Given the description of an element on the screen output the (x, y) to click on. 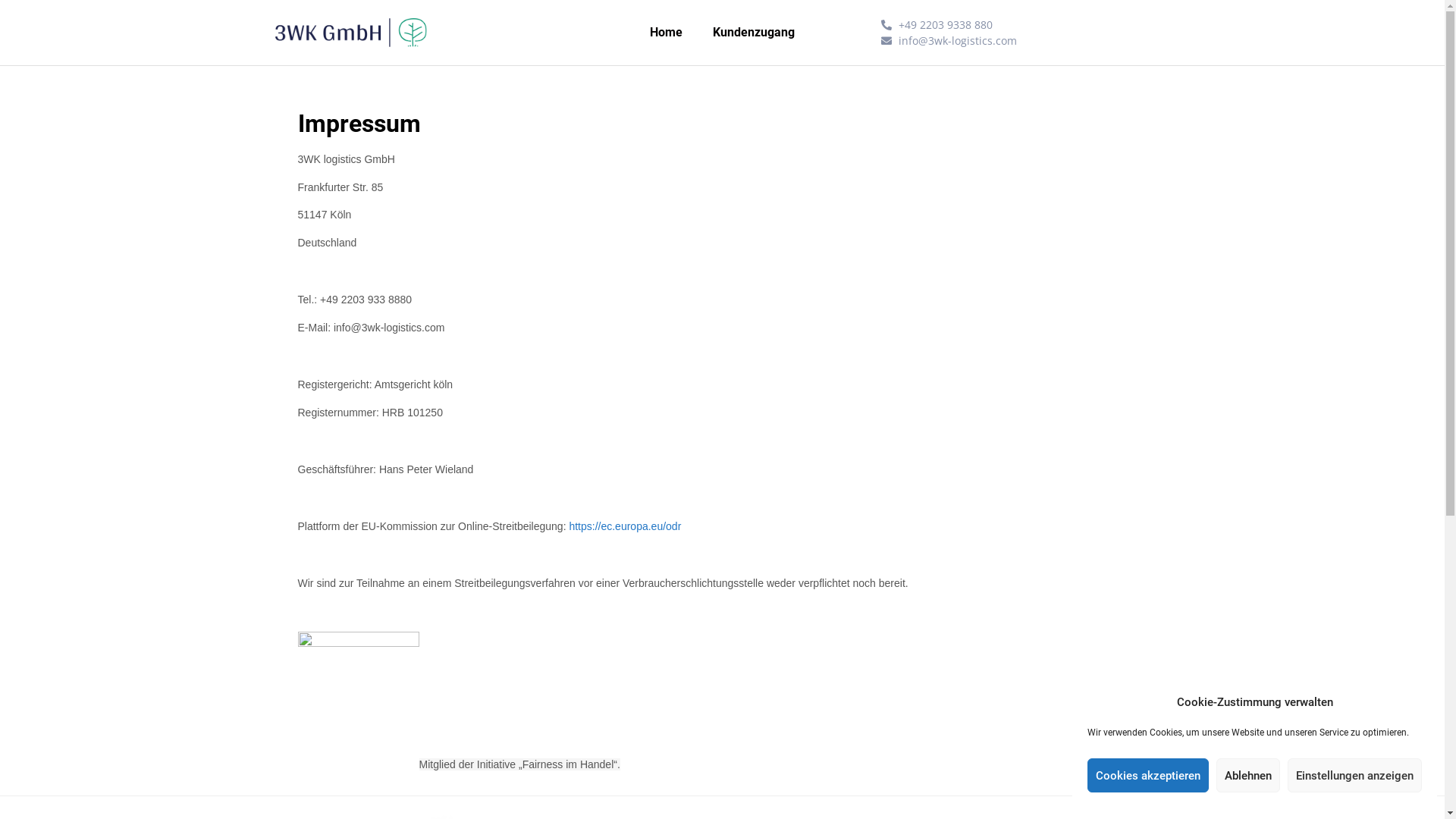
Home Element type: text (665, 32)
Einstellungen anzeigen Element type: text (1354, 775)
Ablehnen Element type: text (1248, 775)
https://www.fairness-im-handel.de Element type: text (485, 810)
Cookies akzeptieren Element type: text (1147, 775)
https://ec.europa.eu/odr Element type: text (624, 525)
Kundenzugang Element type: text (753, 32)
